Given the description of an element on the screen output the (x, y) to click on. 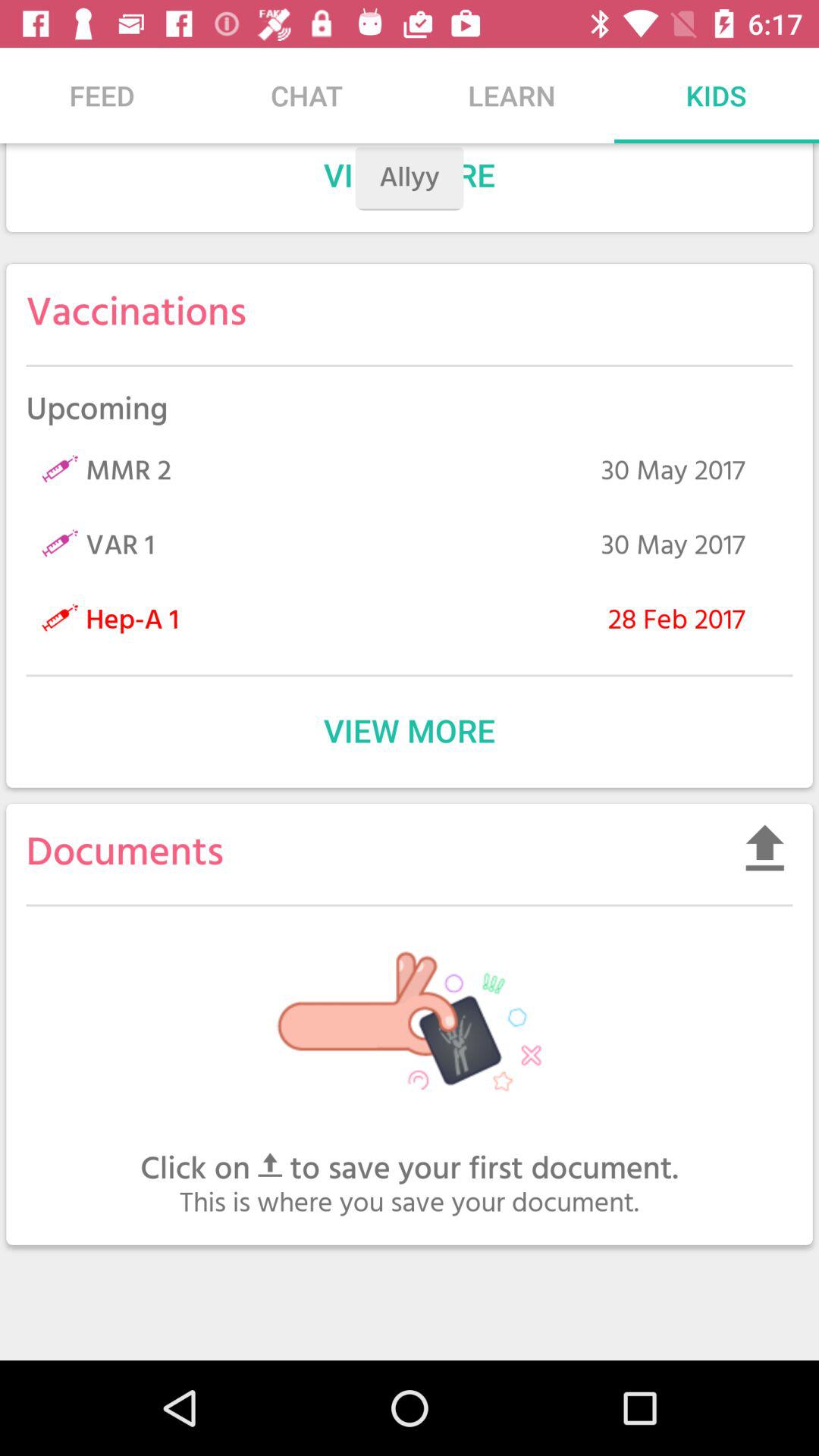
open the item on the right (764, 847)
